Given the description of an element on the screen output the (x, y) to click on. 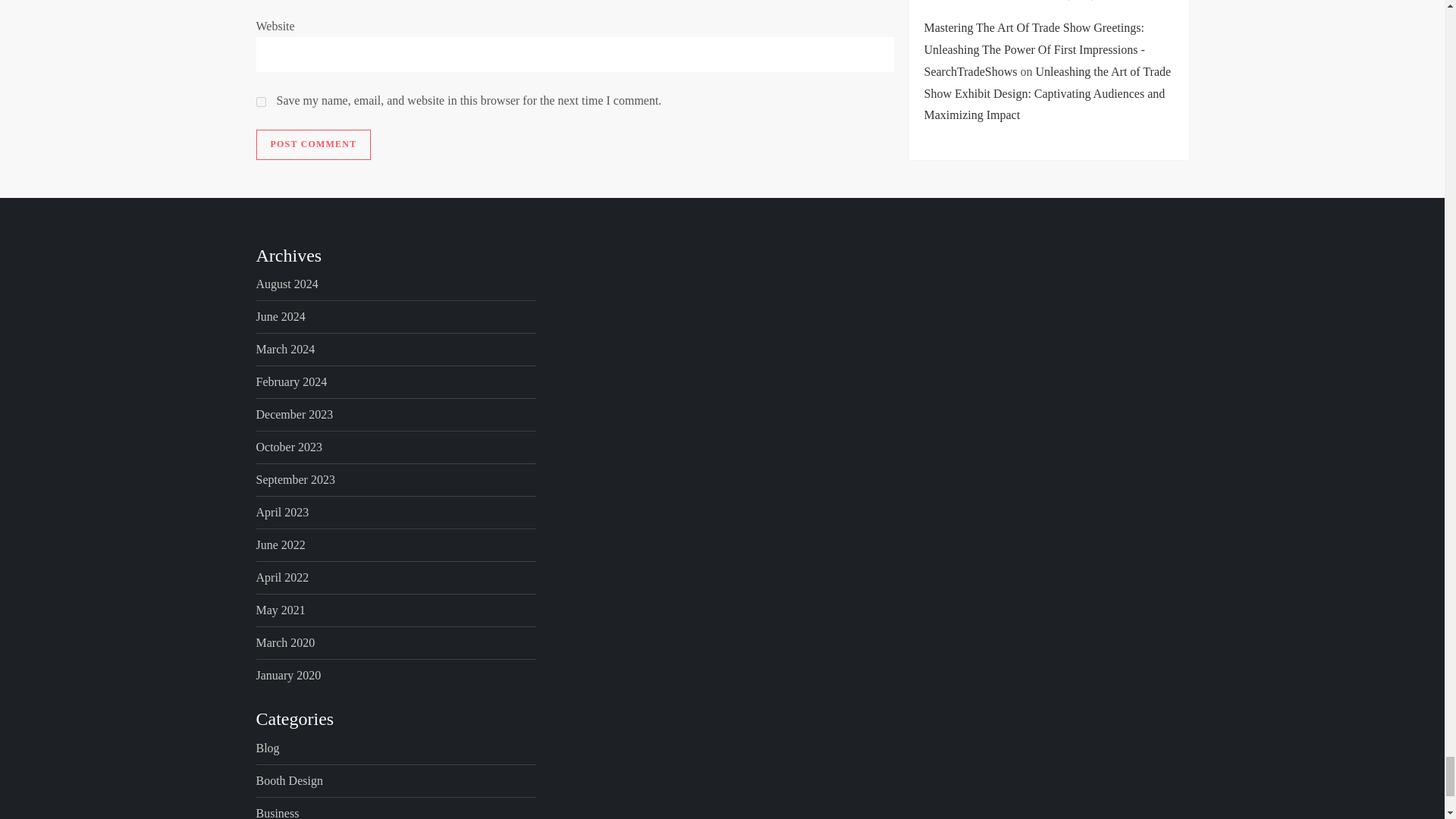
Post Comment (313, 144)
August 2024 (287, 283)
Post Comment (313, 144)
June 2024 (280, 316)
yes (261, 102)
